Given the description of an element on the screen output the (x, y) to click on. 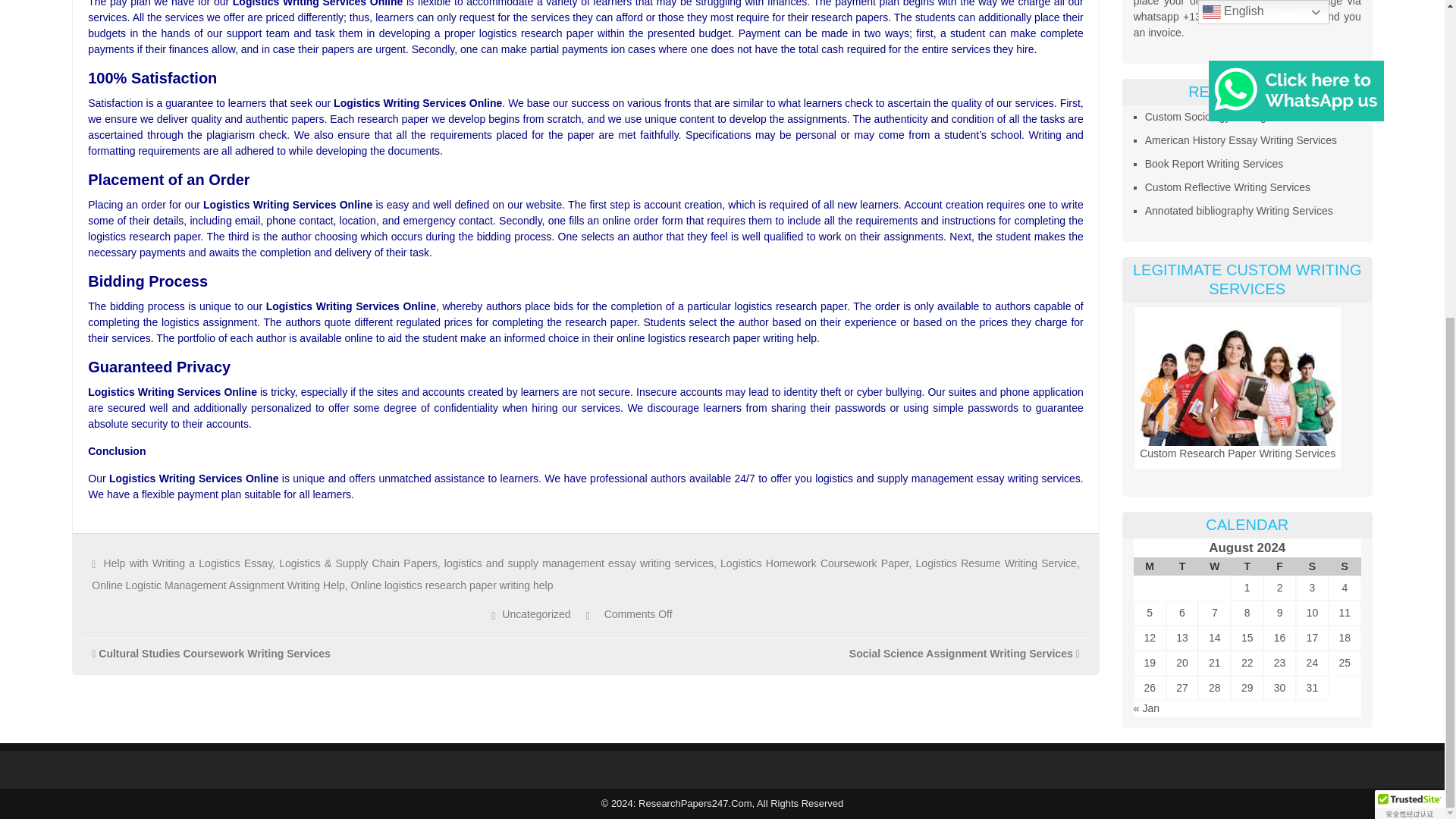
Friday (1279, 566)
Online Logistic Management Assignment Writing Help (218, 585)
logistics and supply management essay writing services (578, 563)
Thursday (1246, 566)
Logistics Resume Writing Service (996, 563)
Tuesday (1182, 566)
Social Science Assignment Writing Services (960, 653)
Custom Reflective Writing Services (1227, 186)
Book Report Writing Services (1214, 163)
Uncategorized (536, 613)
